Given the description of an element on the screen output the (x, y) to click on. 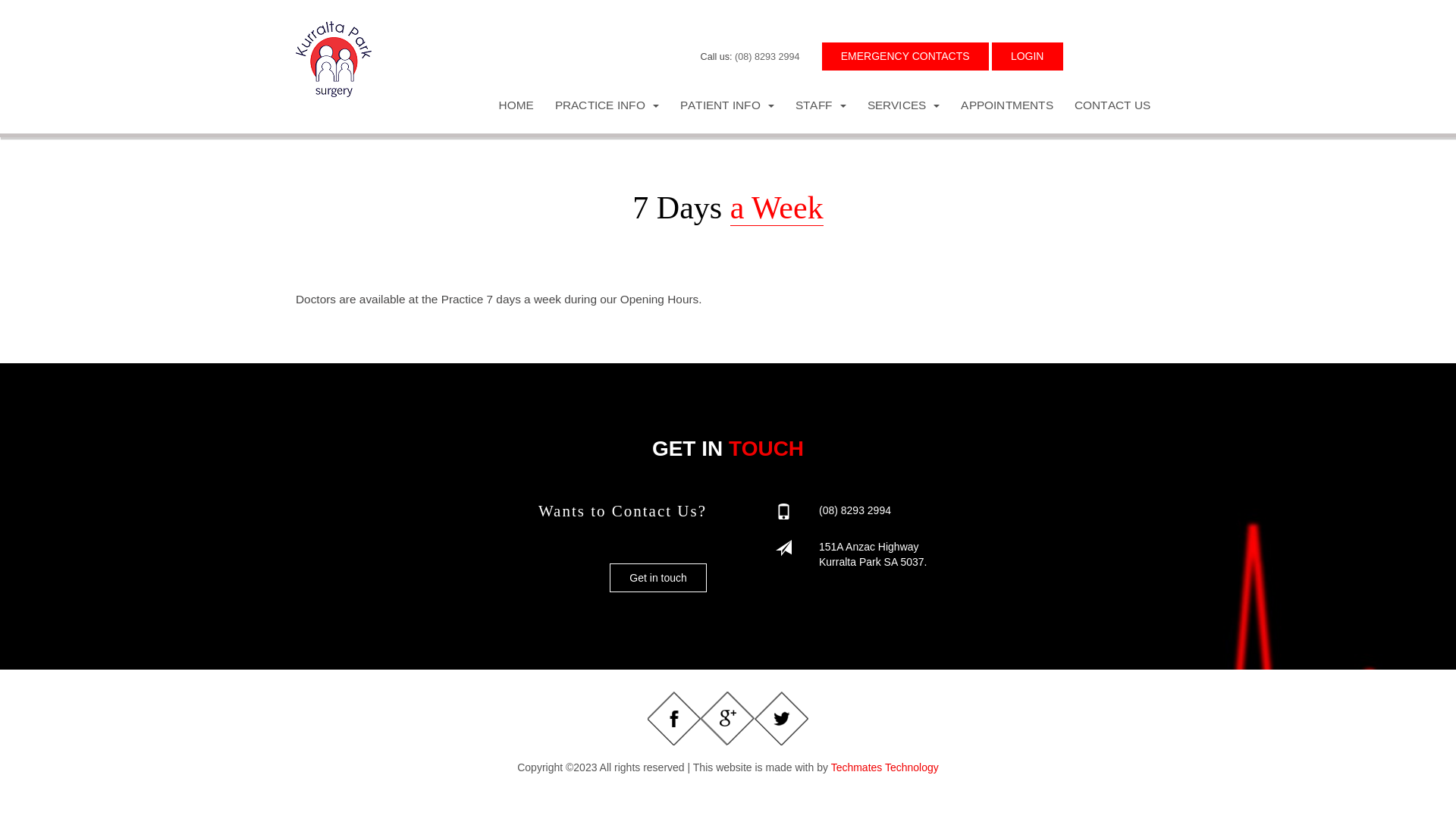
PRACTICE INFO Element type: text (606, 104)
HOME Element type: text (515, 104)
Techmates Technology Element type: text (884, 767)
EMERGENCY CONTACTS Element type: text (905, 56)
LOGIN Element type: text (1027, 56)
PATIENT INFO Element type: text (727, 104)
SERVICES Element type: text (903, 104)
CONTACT US Element type: text (1112, 104)
Wants to Contact Us? Element type: text (622, 511)
Get in touch Element type: text (658, 578)
APPOINTMENTS Element type: text (1006, 104)
STAFF Element type: text (820, 104)
